Given the description of an element on the screen output the (x, y) to click on. 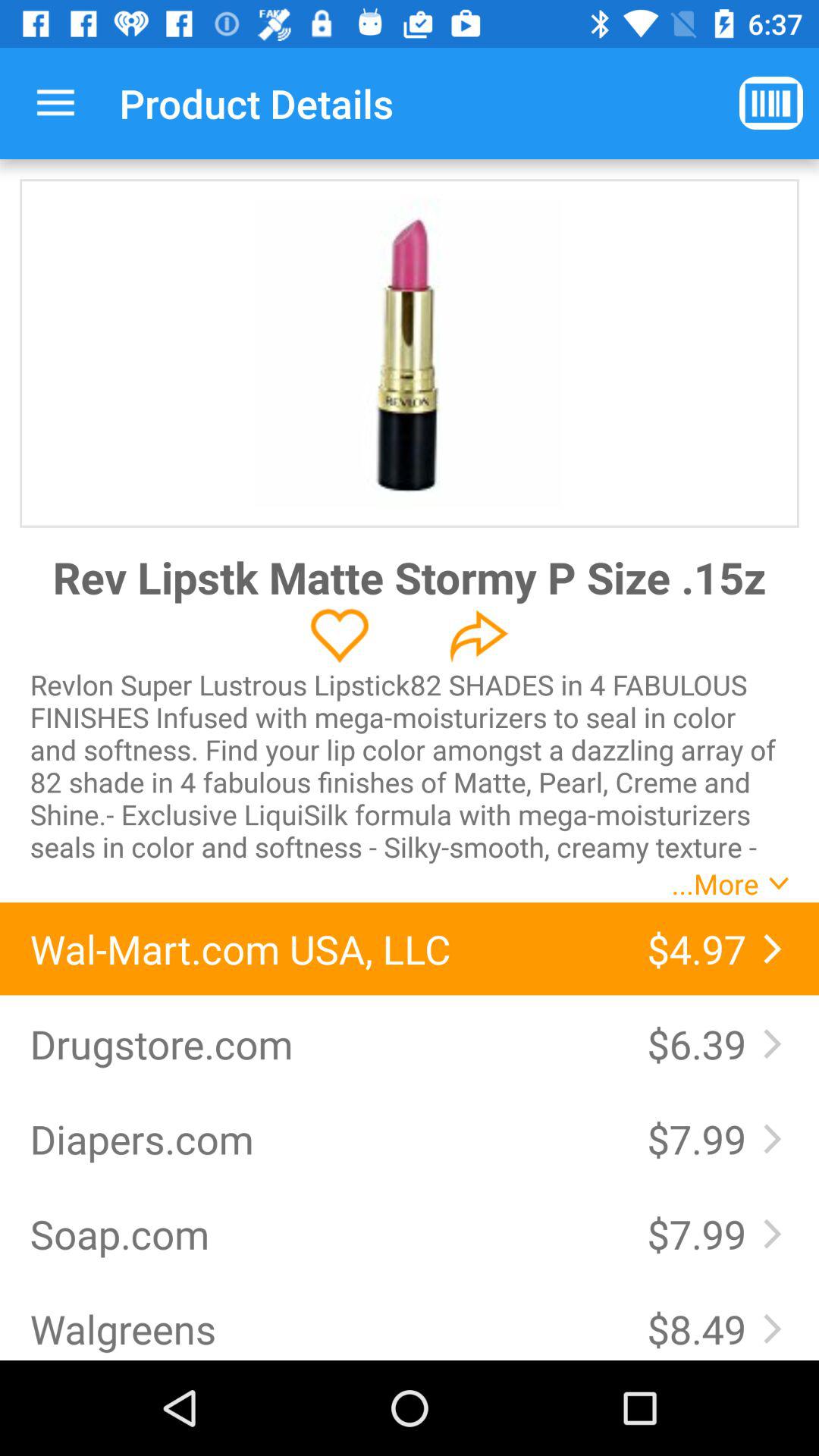
press the icon below the soap.com icon (323, 1328)
